Given the description of an element on the screen output the (x, y) to click on. 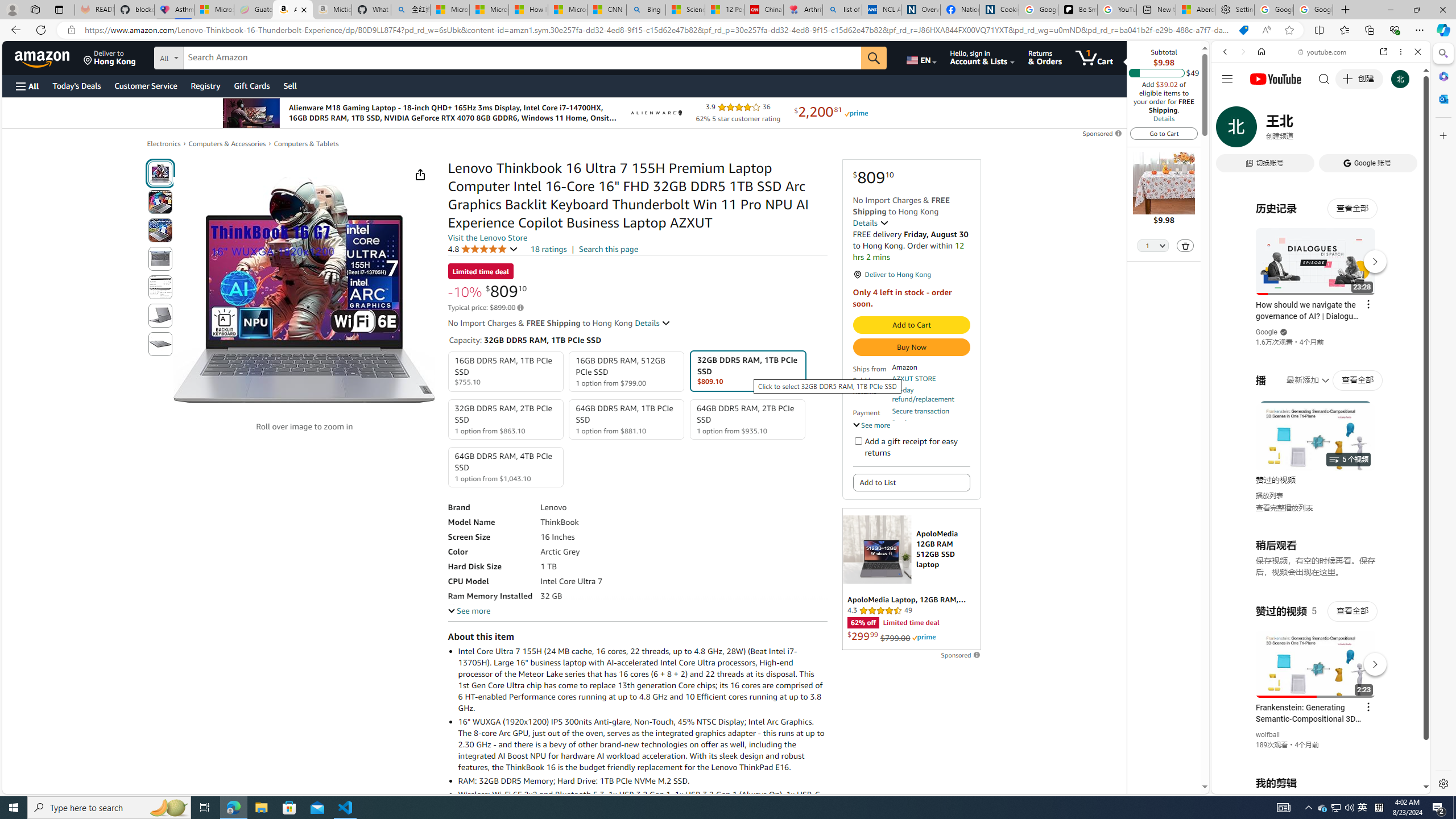
4.8 4.8 out of 5 stars (482, 248)
Visit the Lenovo Store (486, 237)
YouTube - YouTube (1315, 560)
